Given the description of an element on the screen output the (x, y) to click on. 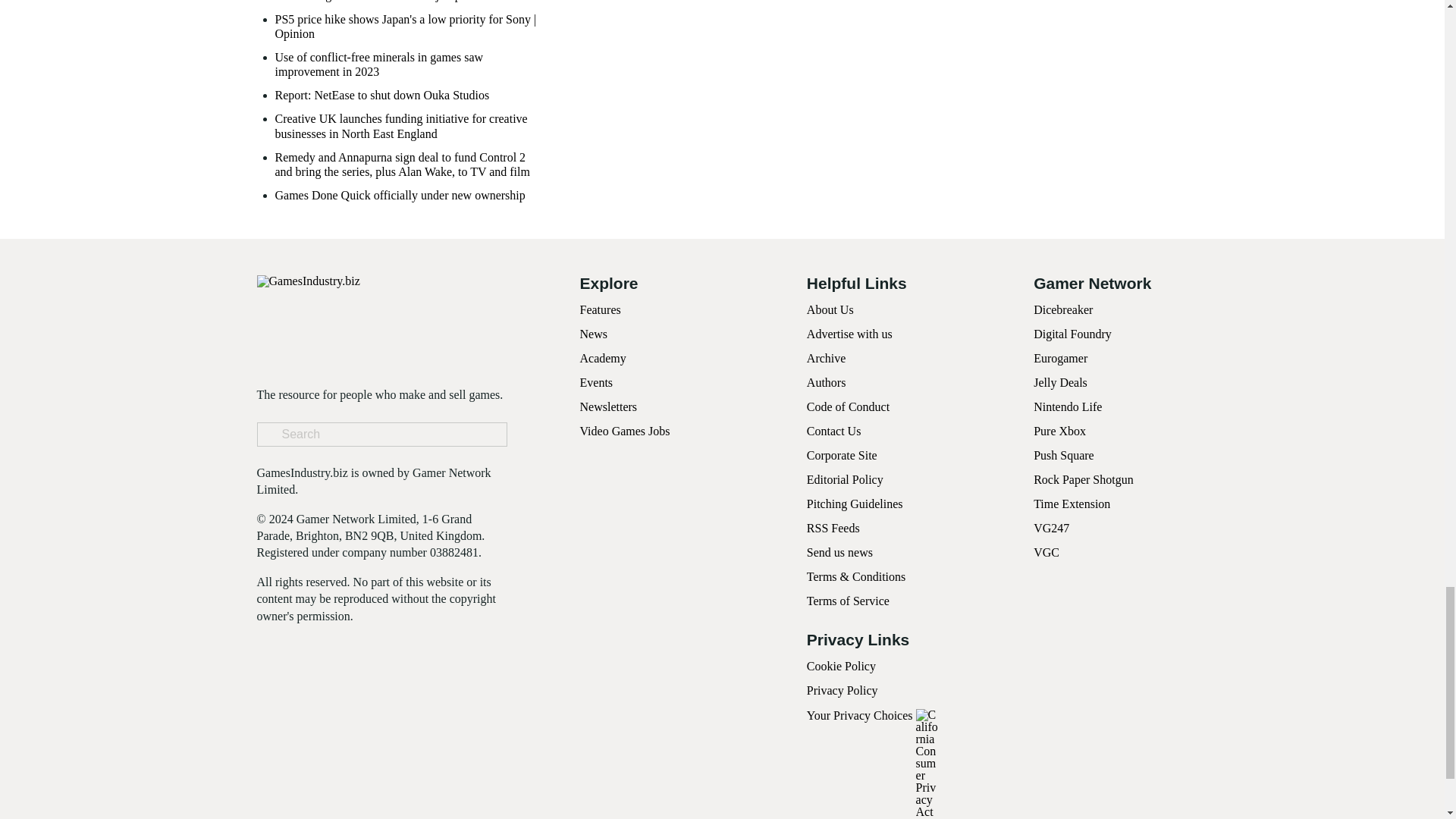
Events (595, 382)
Newsletters (608, 406)
Report: NetEase to shut down Ouka Studios (382, 94)
Academy (602, 358)
Video Games Jobs (624, 431)
About Us (829, 309)
Features (599, 309)
News (593, 333)
